Given the description of an element on the screen output the (x, y) to click on. 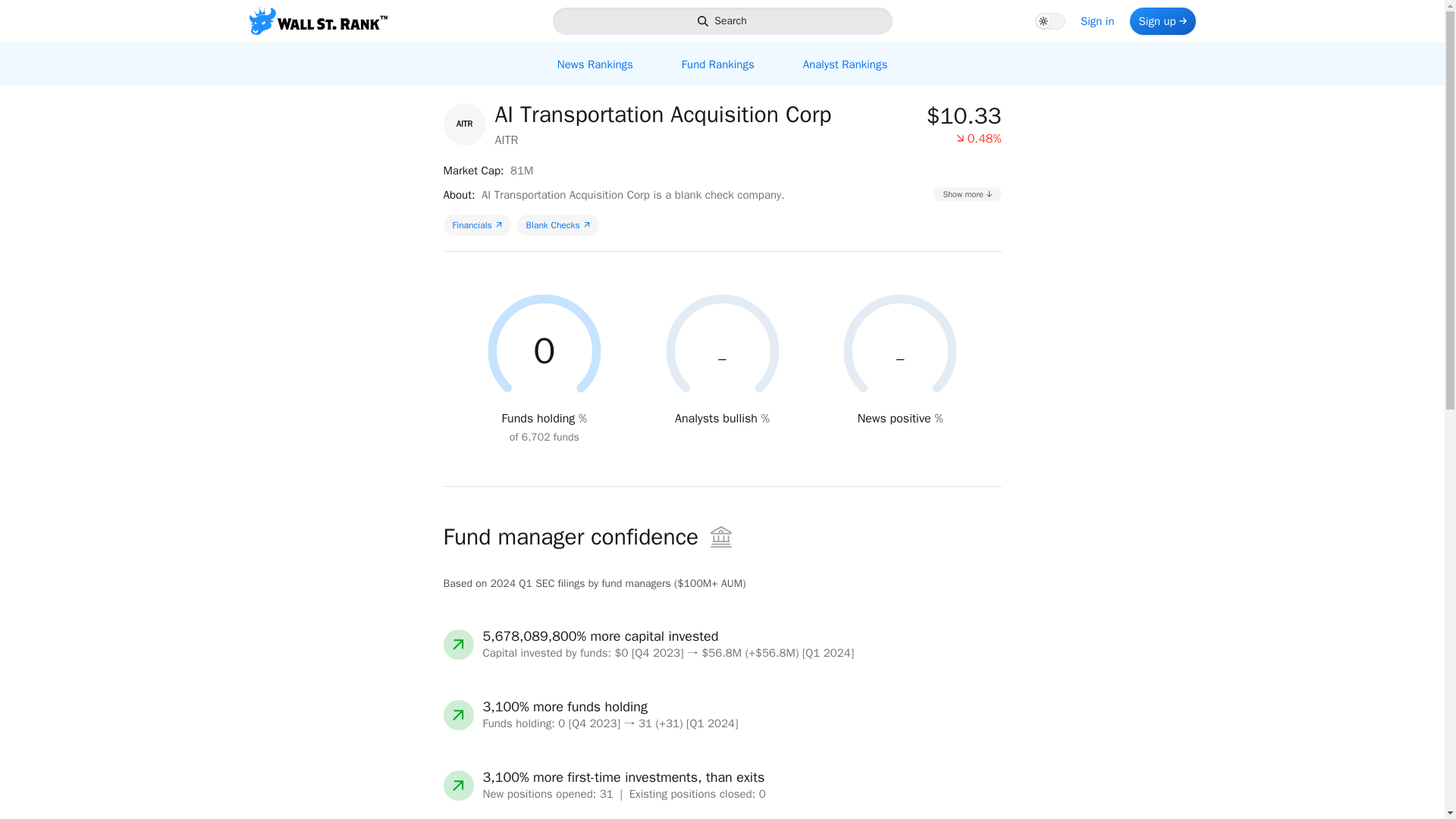
Sign up (1162, 21)
Show more (967, 193)
Analyst Rankings (721, 64)
Financials (844, 64)
Sign in (476, 224)
Blank Checks (1097, 21)
News Rankings (557, 224)
Search (594, 64)
Fund Rankings (721, 21)
